Given the description of an element on the screen output the (x, y) to click on. 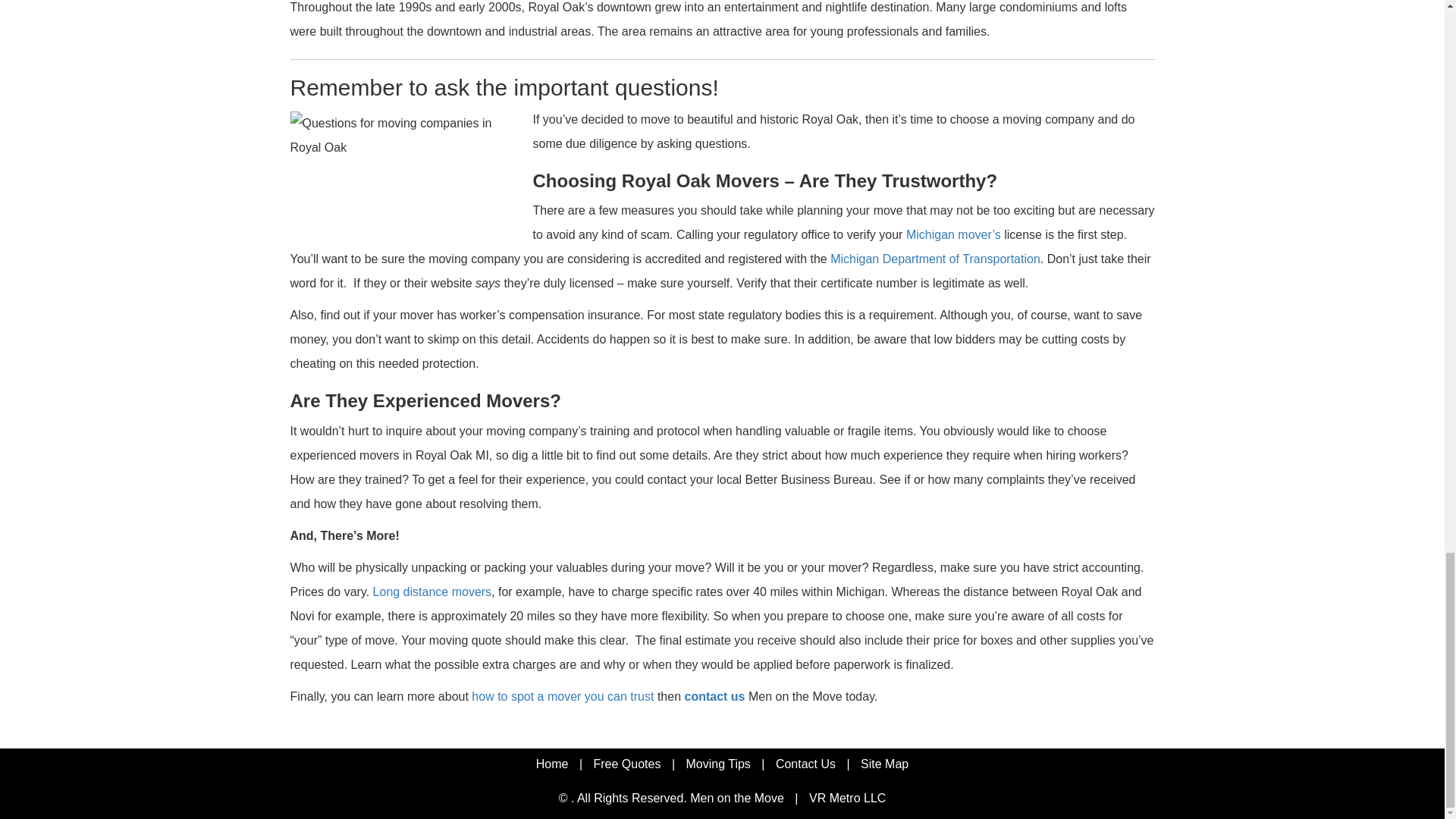
Michigan Department of Transportation (935, 258)
Home (552, 764)
contact us (714, 696)
Long distance movers (432, 591)
how to spot a mover you can trust (562, 696)
Free Quotes (626, 764)
